Given the description of an element on the screen output the (x, y) to click on. 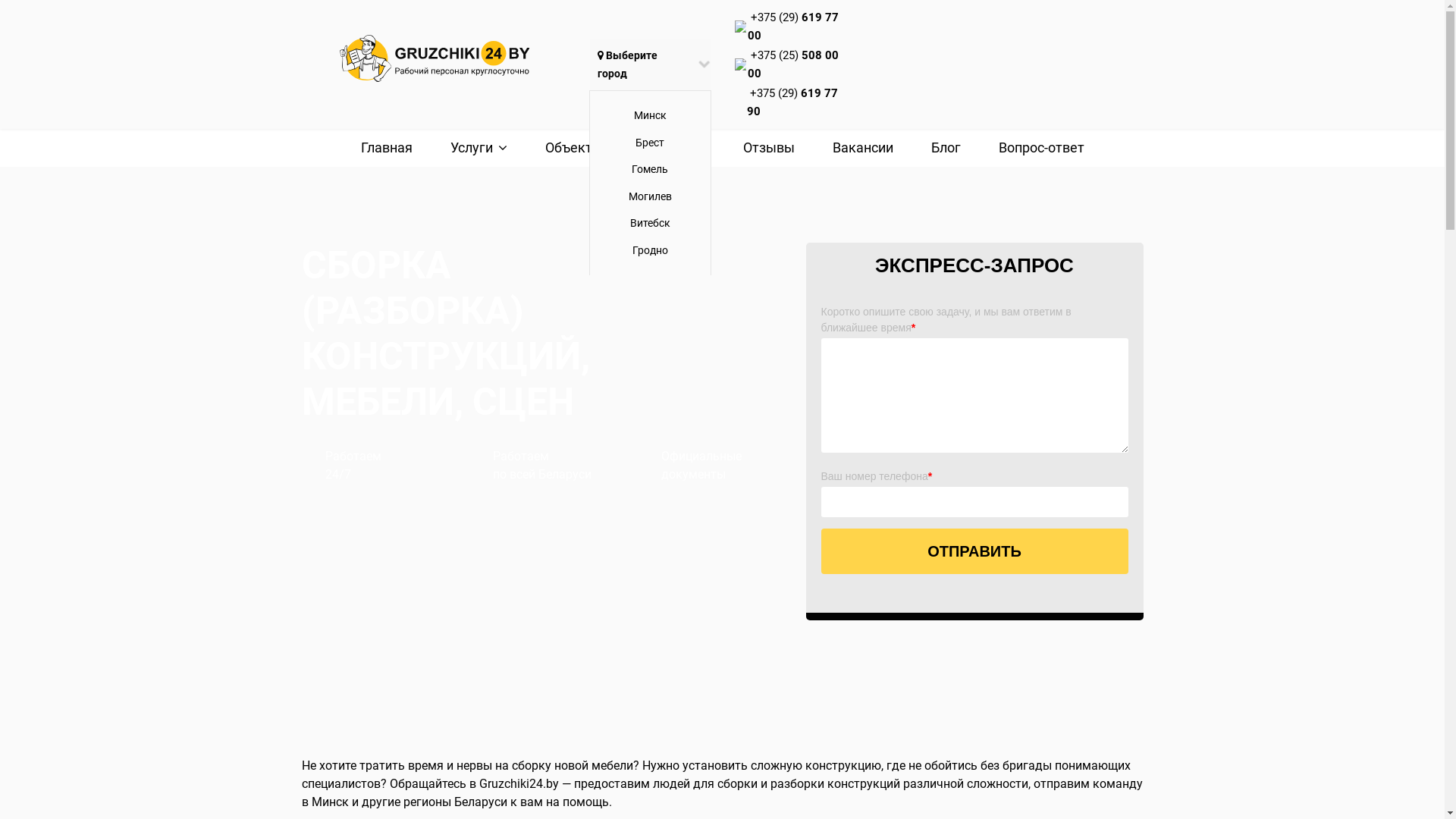
+375 (29) 619 77 90 Element type: text (791, 102)
+375 (25) 508 00 00 Element type: text (792, 64)
+375 (29) 619 77 00 Element type: text (792, 26)
